Given the description of an element on the screen output the (x, y) to click on. 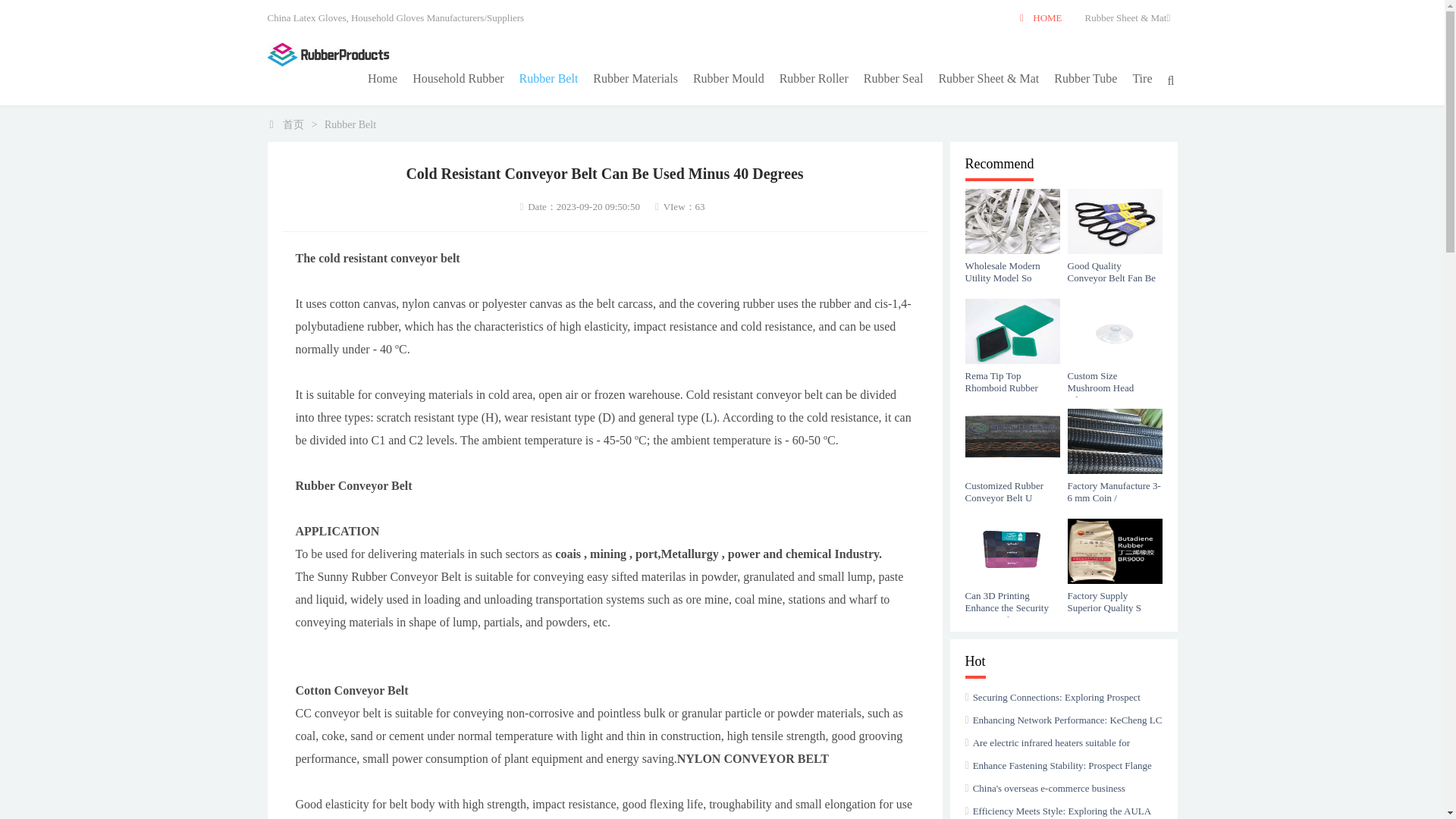
Factory Supply Superior Quality S (1114, 595)
Wholesale Modern Utility Model So (1011, 265)
Good Quality Conveyor Belt Fan Be (1114, 265)
Rubber Roller (813, 78)
Rubber Belt (549, 78)
Customized Rubber Conveyor Belt U (1011, 485)
Rubber Tube (1085, 78)
Rema Tip Top Rhomboid Rubber Repa (1011, 375)
Can 3D Printing Enhance the Security Features of P (1011, 595)
Home (381, 78)
Tire  (1141, 78)
Household Rubber (457, 78)
Custom Size Mushroom Head Silicon (1114, 375)
